Given the description of an element on the screen output the (x, y) to click on. 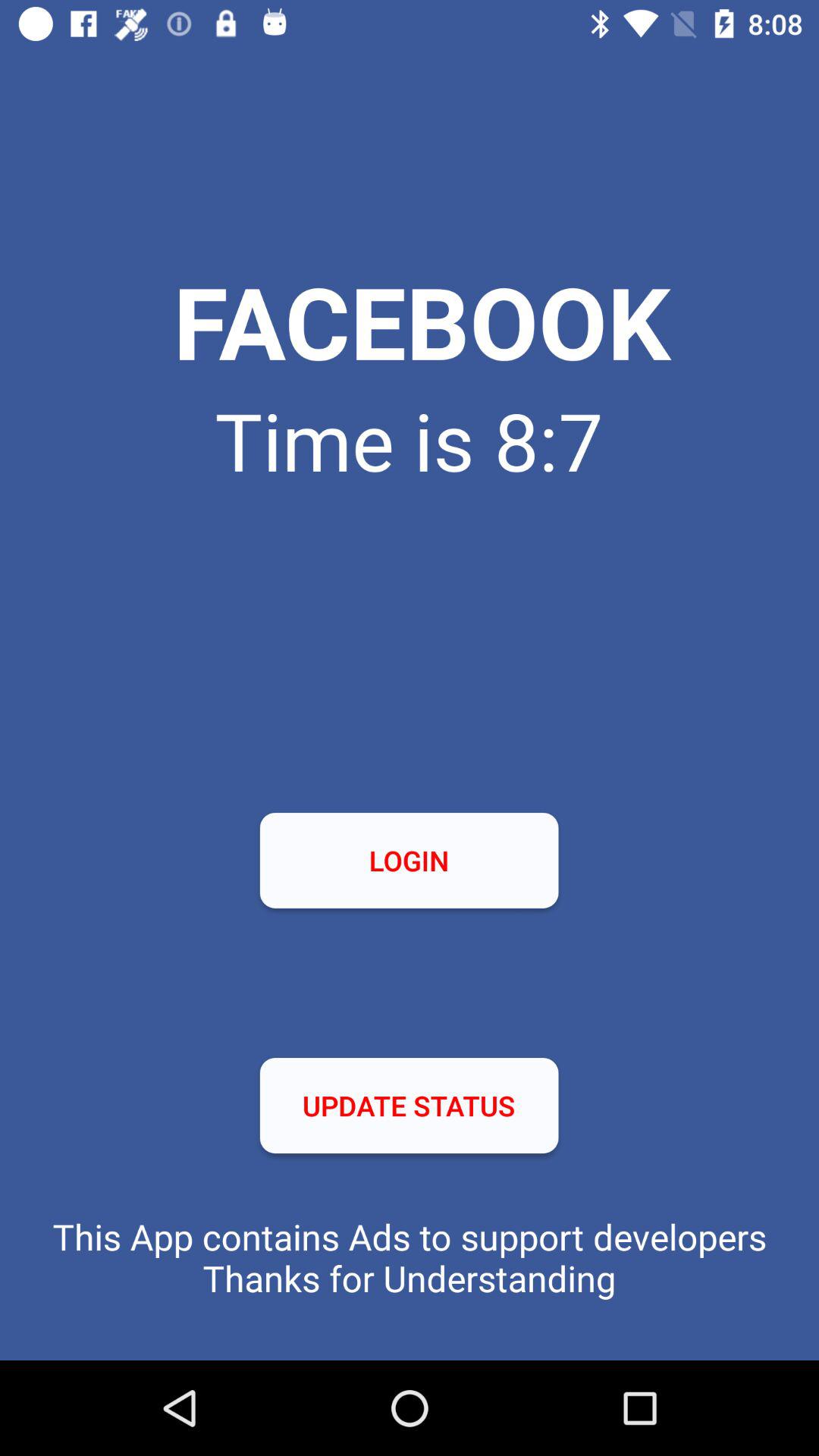
launch the update status (408, 1105)
